Given the description of an element on the screen output the (x, y) to click on. 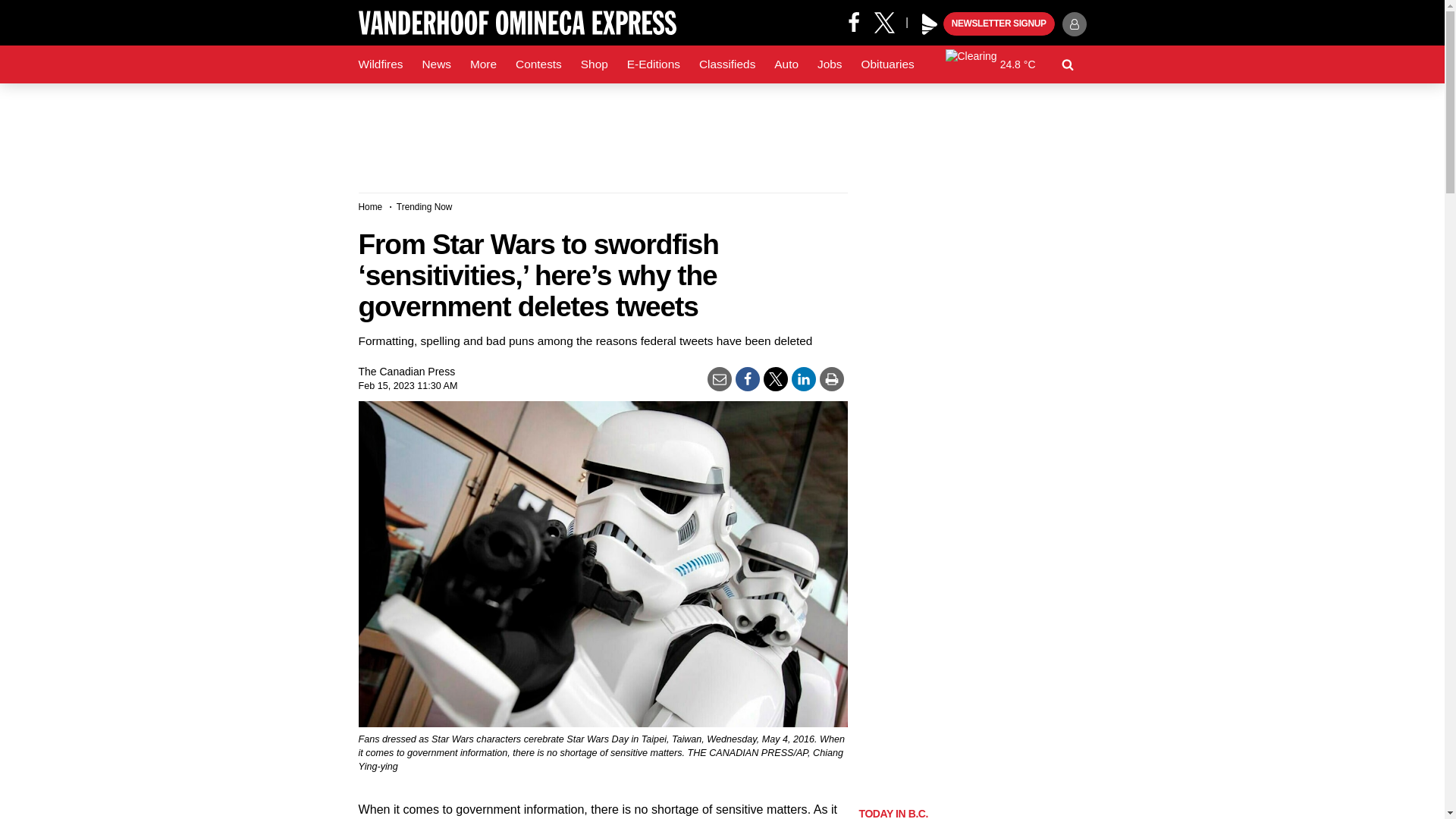
Play (929, 24)
NEWSLETTER SIGNUP (998, 24)
News (435, 64)
X (889, 21)
Facebook (853, 21)
Wildfires (380, 64)
Black Press Media (929, 24)
